Given the description of an element on the screen output the (x, y) to click on. 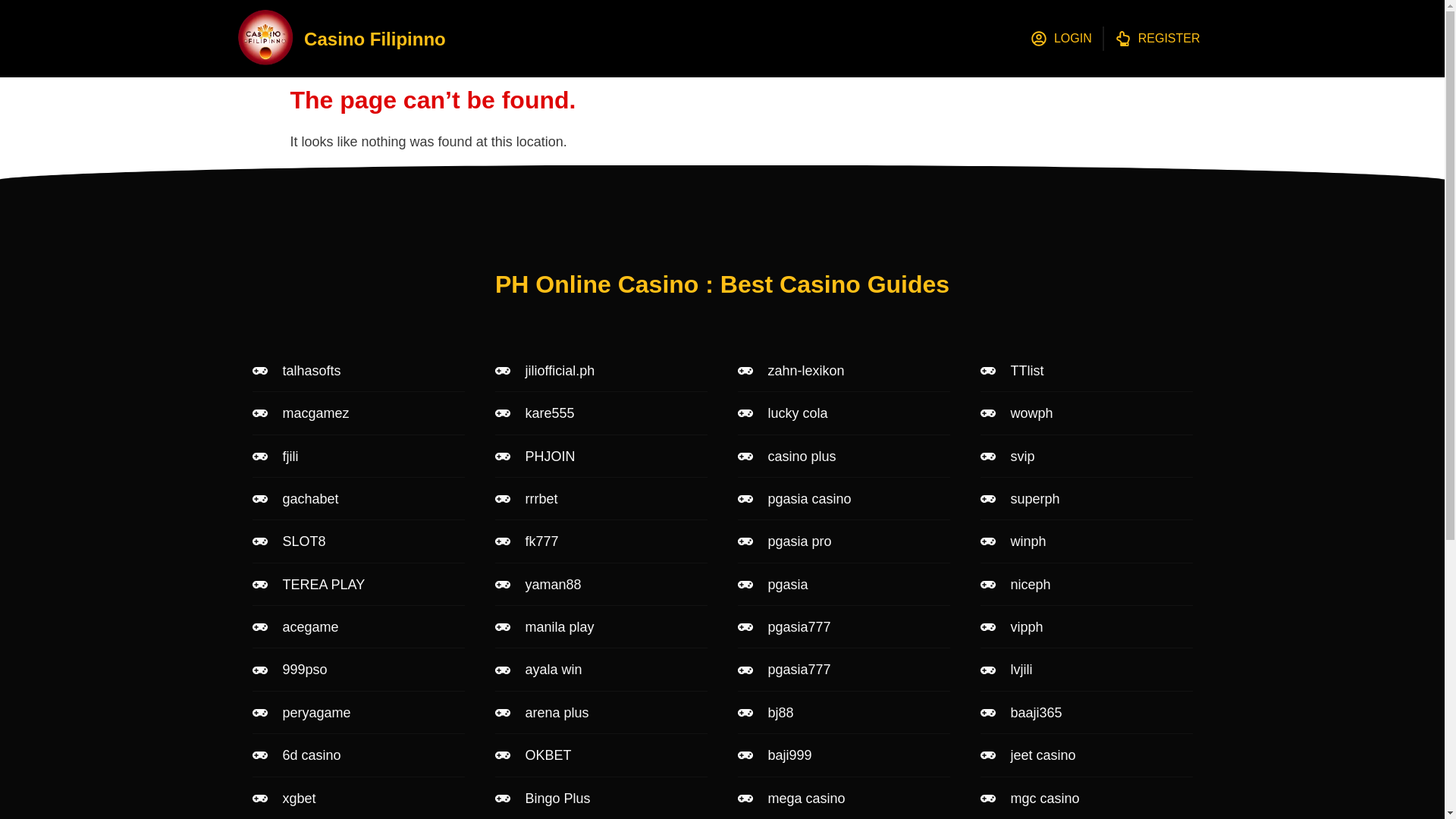
rrrbet (600, 498)
pgasia casino (842, 498)
jiliofficial.ph (600, 370)
yaman88 (600, 584)
OKBET (600, 754)
ayala win (600, 669)
fk777 (600, 541)
SLOT8 (357, 541)
manila play (600, 627)
gachabet (357, 498)
